Given the description of an element on the screen output the (x, y) to click on. 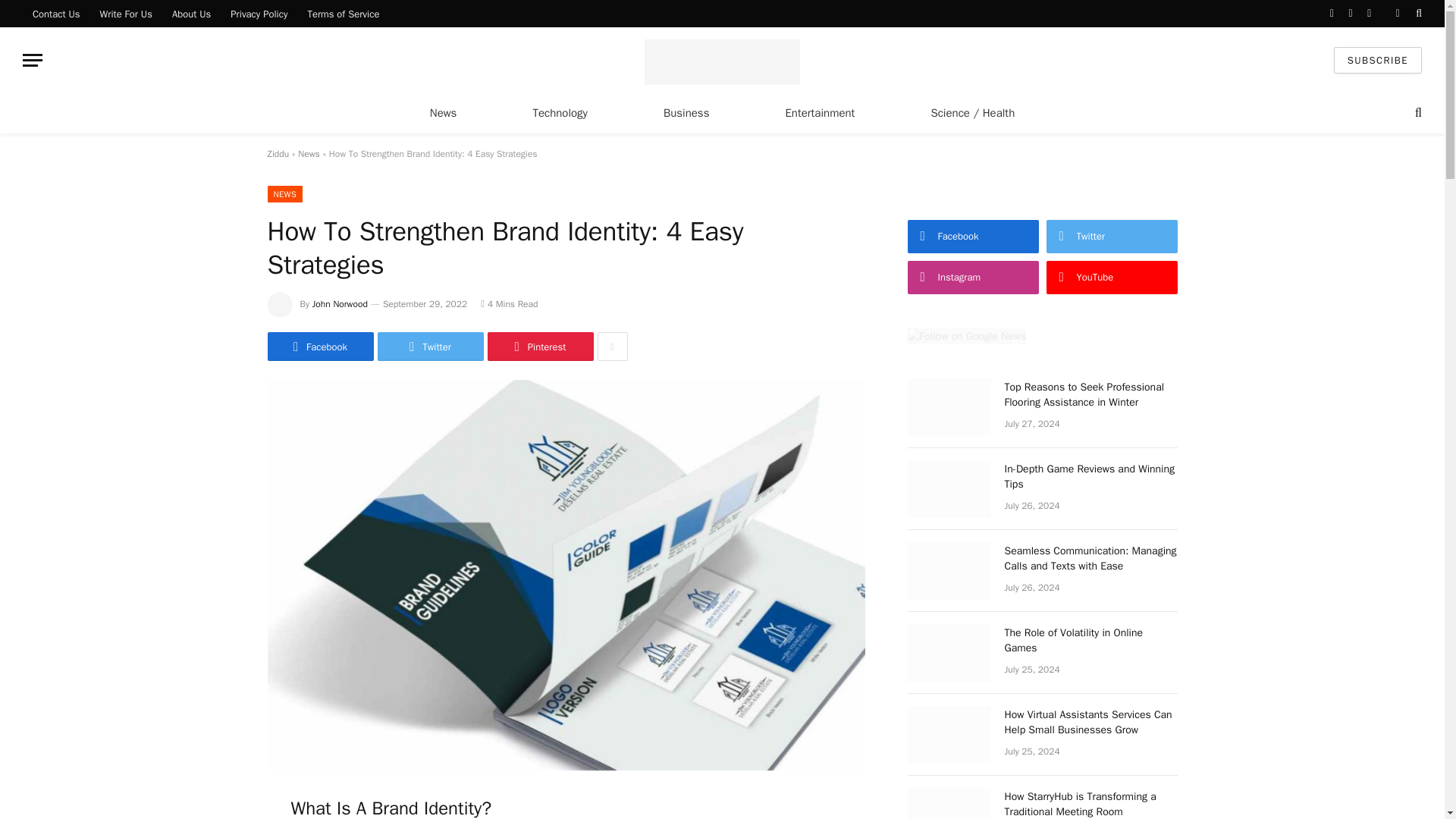
Posts by John Norwood (340, 304)
Share on Facebook (319, 346)
Show More Social Sharing (611, 346)
Ziddu (722, 59)
Ziddu (277, 153)
NEWS (284, 193)
Facebook (1331, 13)
Instagram (1368, 13)
News (443, 112)
John Norwood (340, 304)
SUBSCRIBE (1377, 59)
Entertainment (819, 112)
Share on Pinterest (539, 346)
Search (1417, 13)
